Given the description of an element on the screen output the (x, y) to click on. 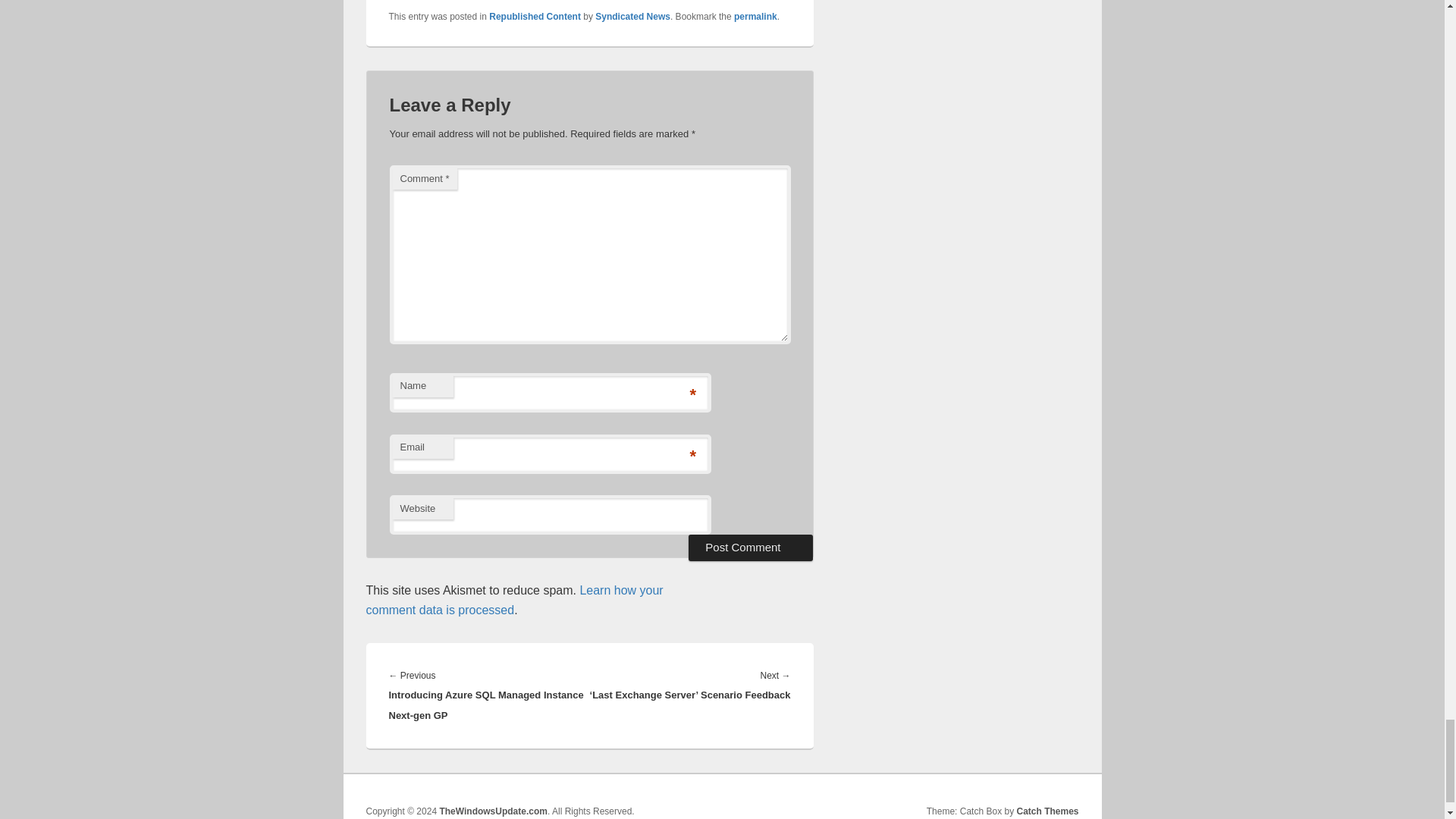
Post Comment (750, 547)
Syndicated News (632, 16)
permalink (755, 16)
Catch Themes (1047, 810)
Republished Content (534, 16)
TheWindowsUpdate.com (493, 810)
Permalink to Abstracts: March 21, 2024 (755, 16)
Learn how your comment data is processed (513, 599)
Post Comment (750, 547)
